Given the description of an element on the screen output the (x, y) to click on. 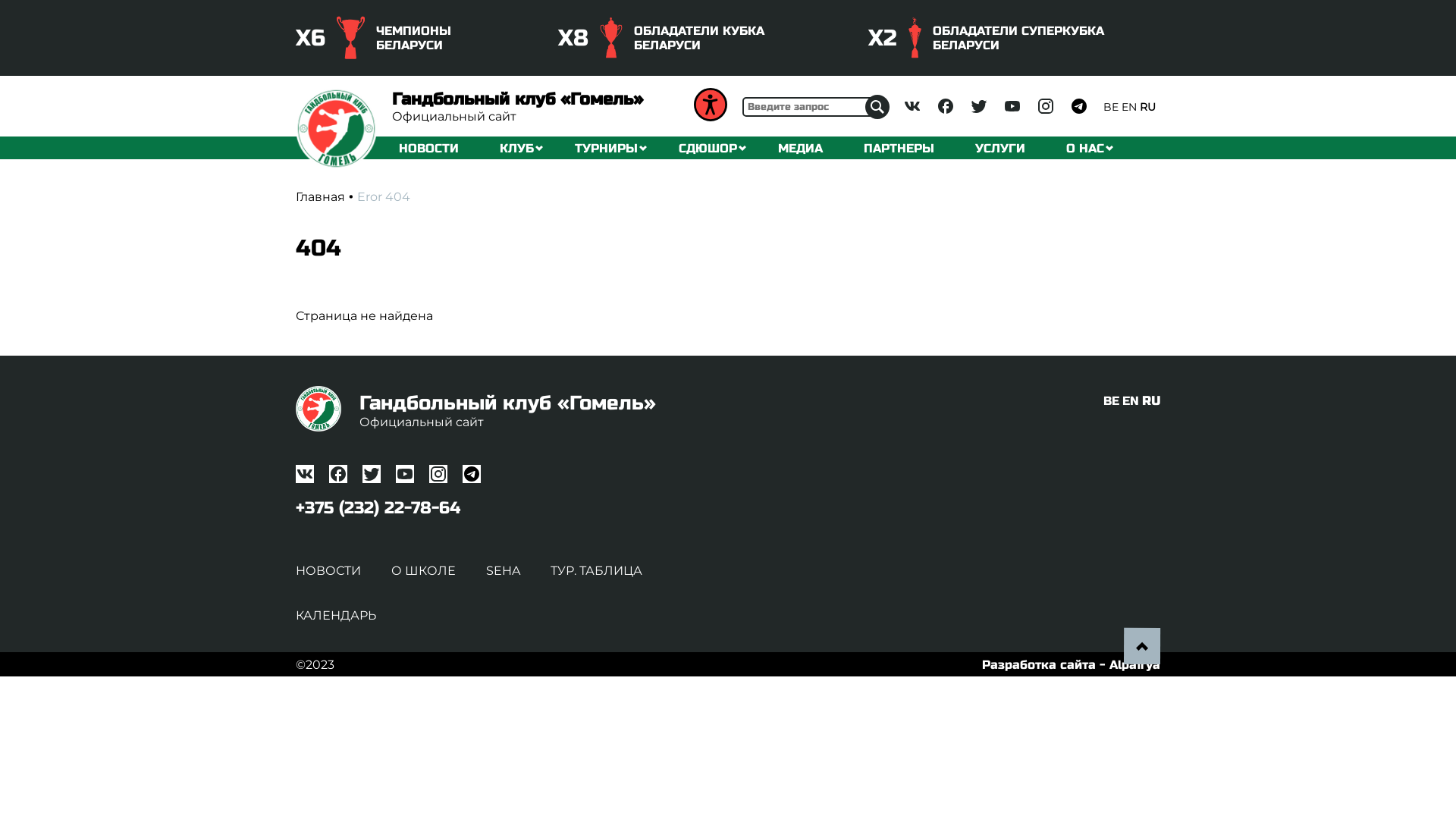
+375 (232) 22-78-64 Element type: text (377, 507)
RU Element type: text (1151, 400)
BE Element type: text (1110, 106)
SEHA Element type: text (503, 570)
EN Element type: text (1130, 400)
EN Element type: text (1128, 106)
RU Element type: text (1147, 106)
BE Element type: text (1111, 400)
